Given the description of an element on the screen output the (x, y) to click on. 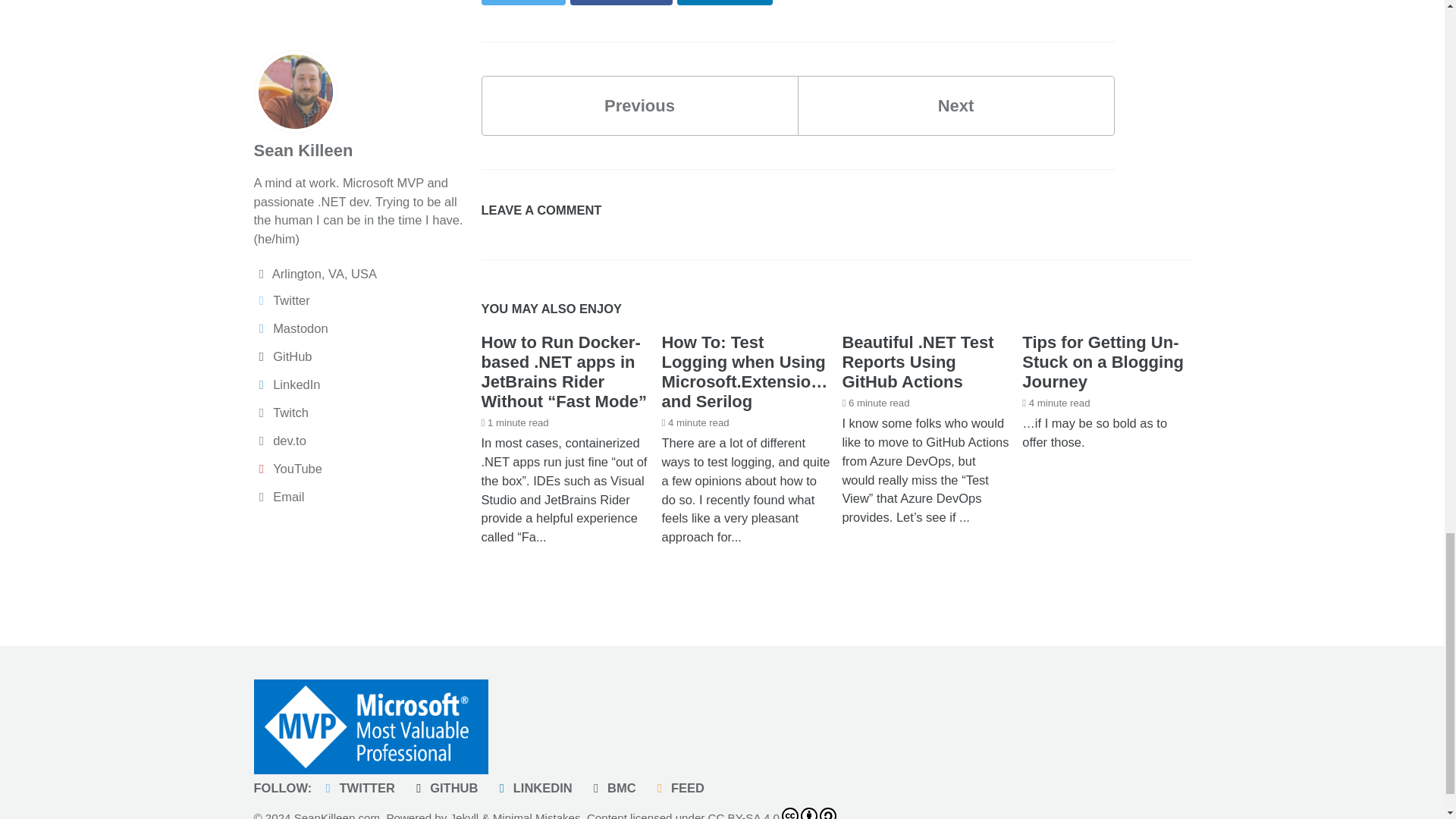
Beautiful .NET Test Reports Using GitHub Actions (916, 361)
Share on LinkedIn (725, 2)
Tips for Getting Un-Stuck on a Blogging Journey (1102, 361)
LinkedIn (725, 2)
Twitter (522, 2)
TWITTER (361, 787)
Share on Twitter (956, 105)
Share on Facebook (522, 2)
